Given the description of an element on the screen output the (x, y) to click on. 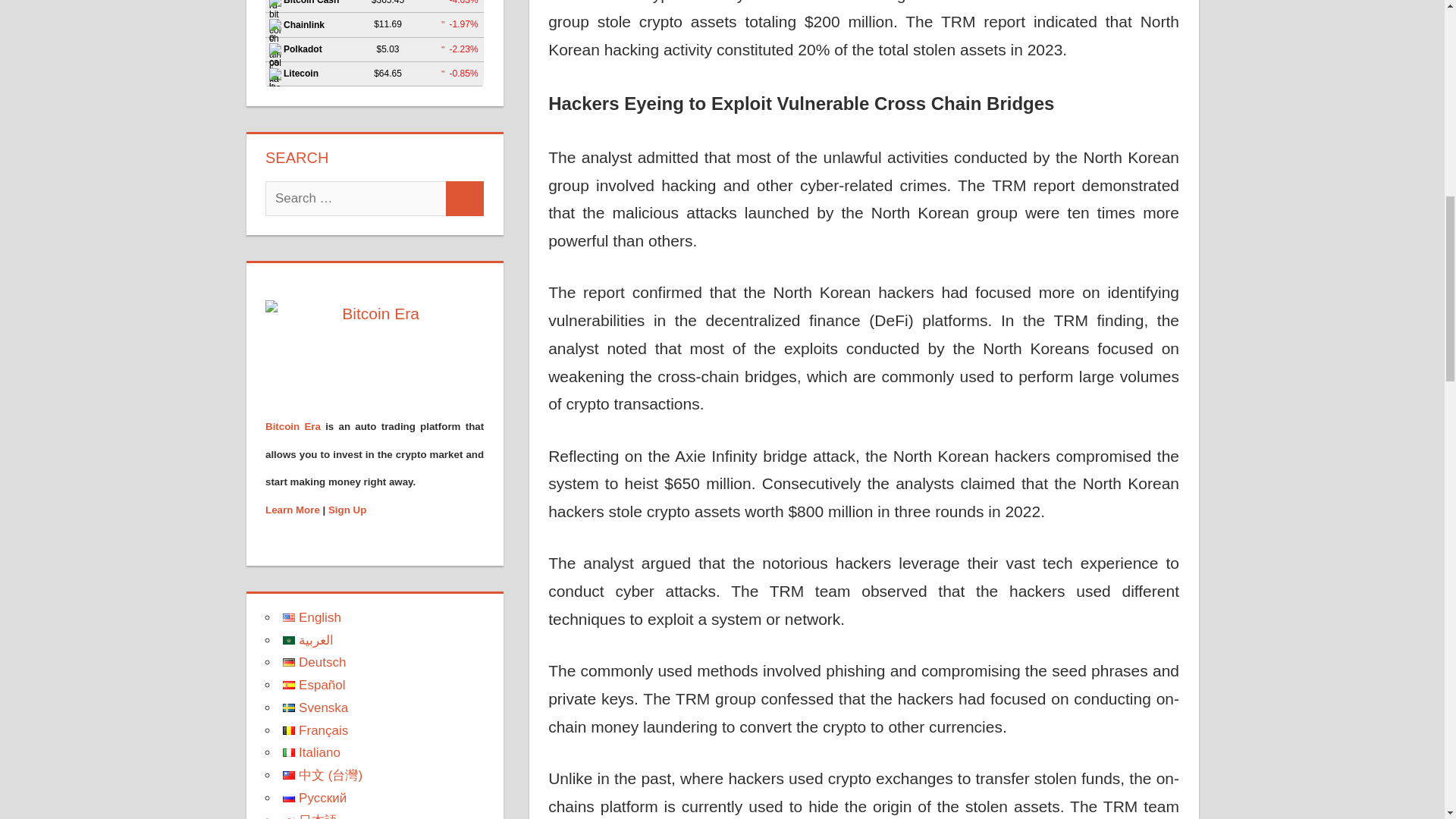
Search for: (355, 198)
